Given the description of an element on the screen output the (x, y) to click on. 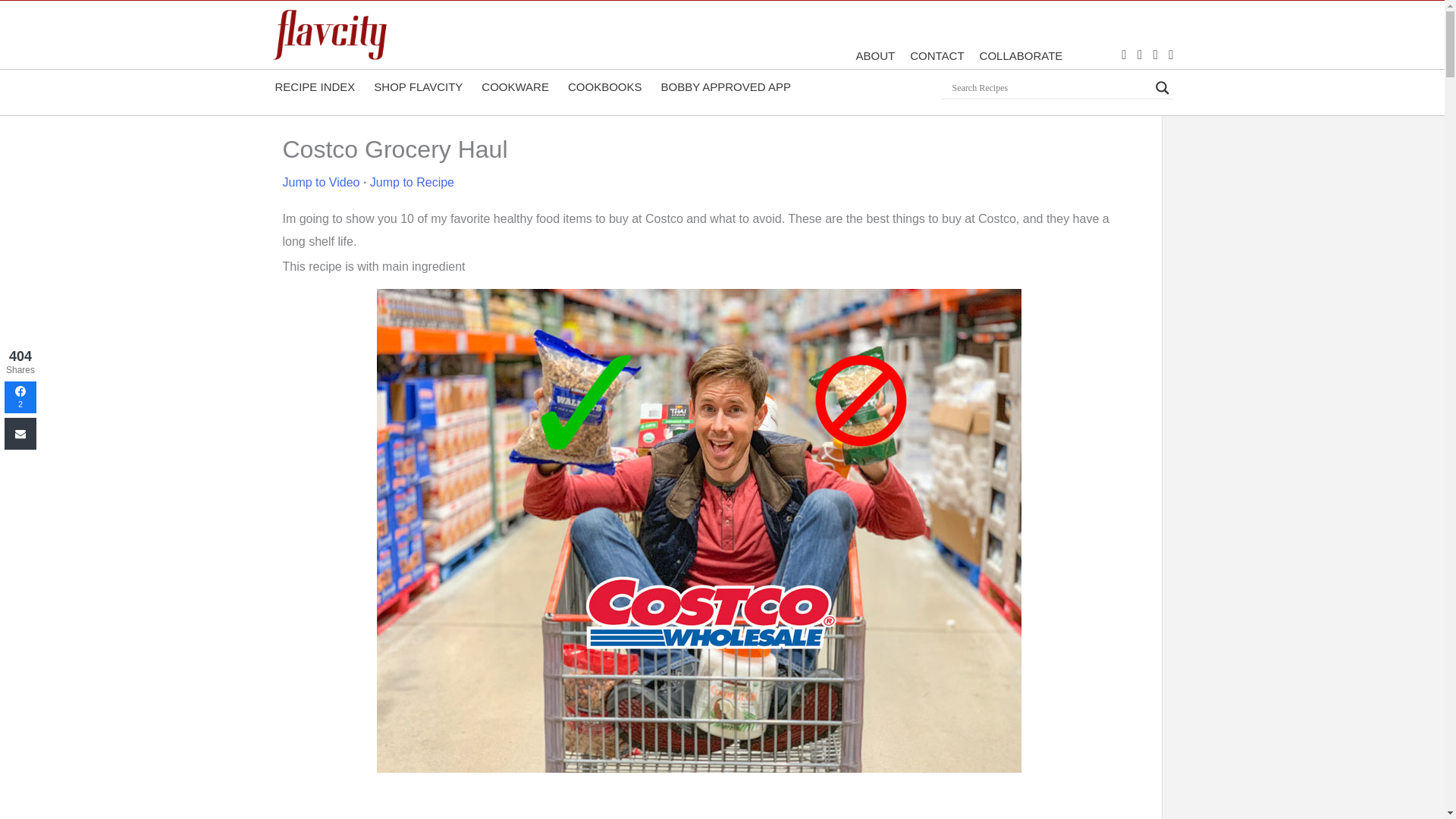
Jump to Video (320, 182)
flavcity-logo (329, 33)
RECIPE INDEX (312, 86)
Jump to Recipe (411, 182)
CONTACT (936, 55)
SHOP FLAVCITY (415, 86)
COOKWARE (513, 86)
COLLABORATE (1021, 55)
BOBBY APPROVED APP (723, 86)
